Given the description of an element on the screen output the (x, y) to click on. 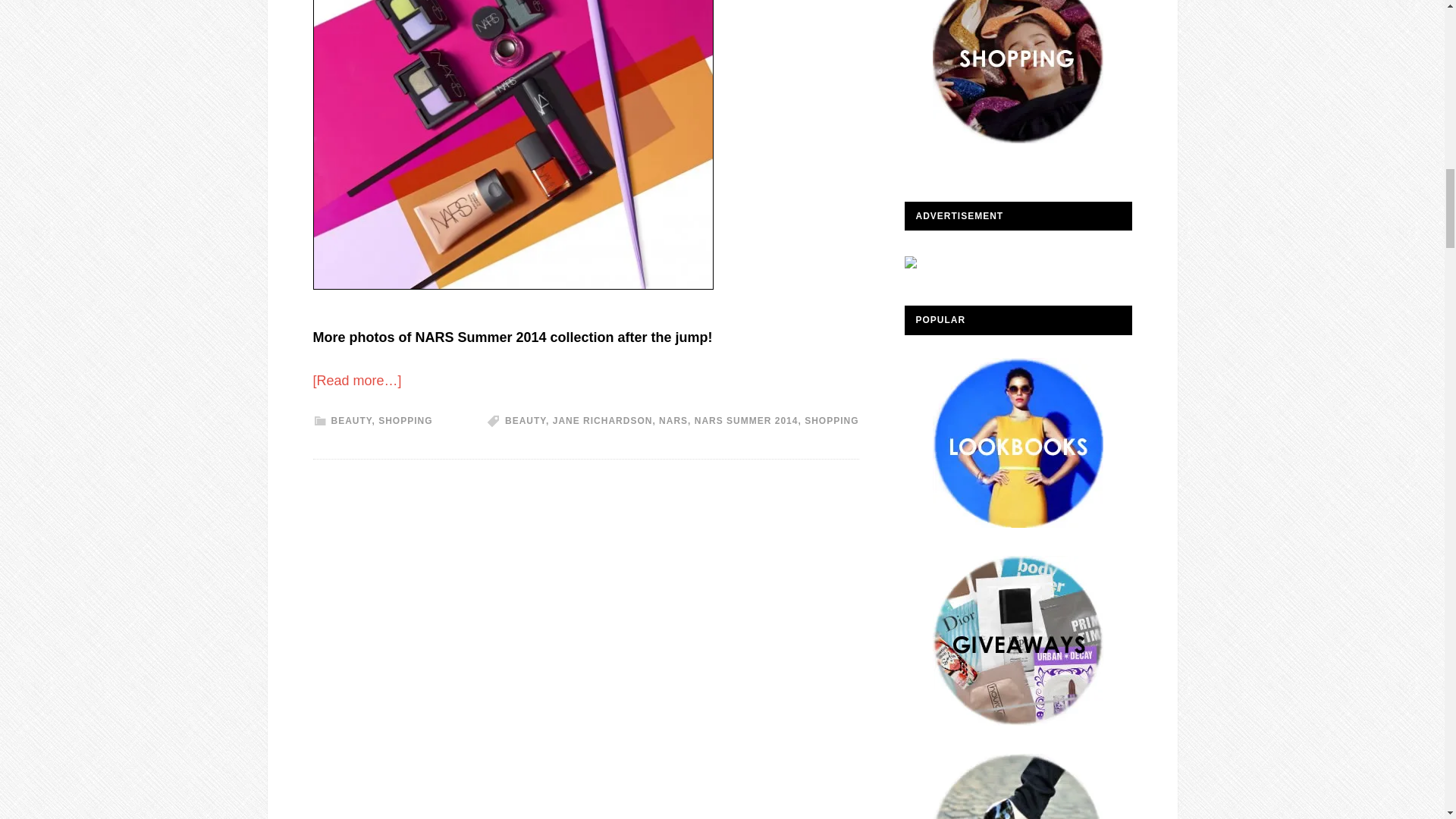
BEAUTY (350, 420)
NARS (673, 420)
JANE RICHARDSON (602, 420)
SHOPPING (405, 420)
NARS SUMMER 2014 (745, 420)
SHOPPING (832, 420)
BEAUTY (525, 420)
